Given the description of an element on the screen output the (x, y) to click on. 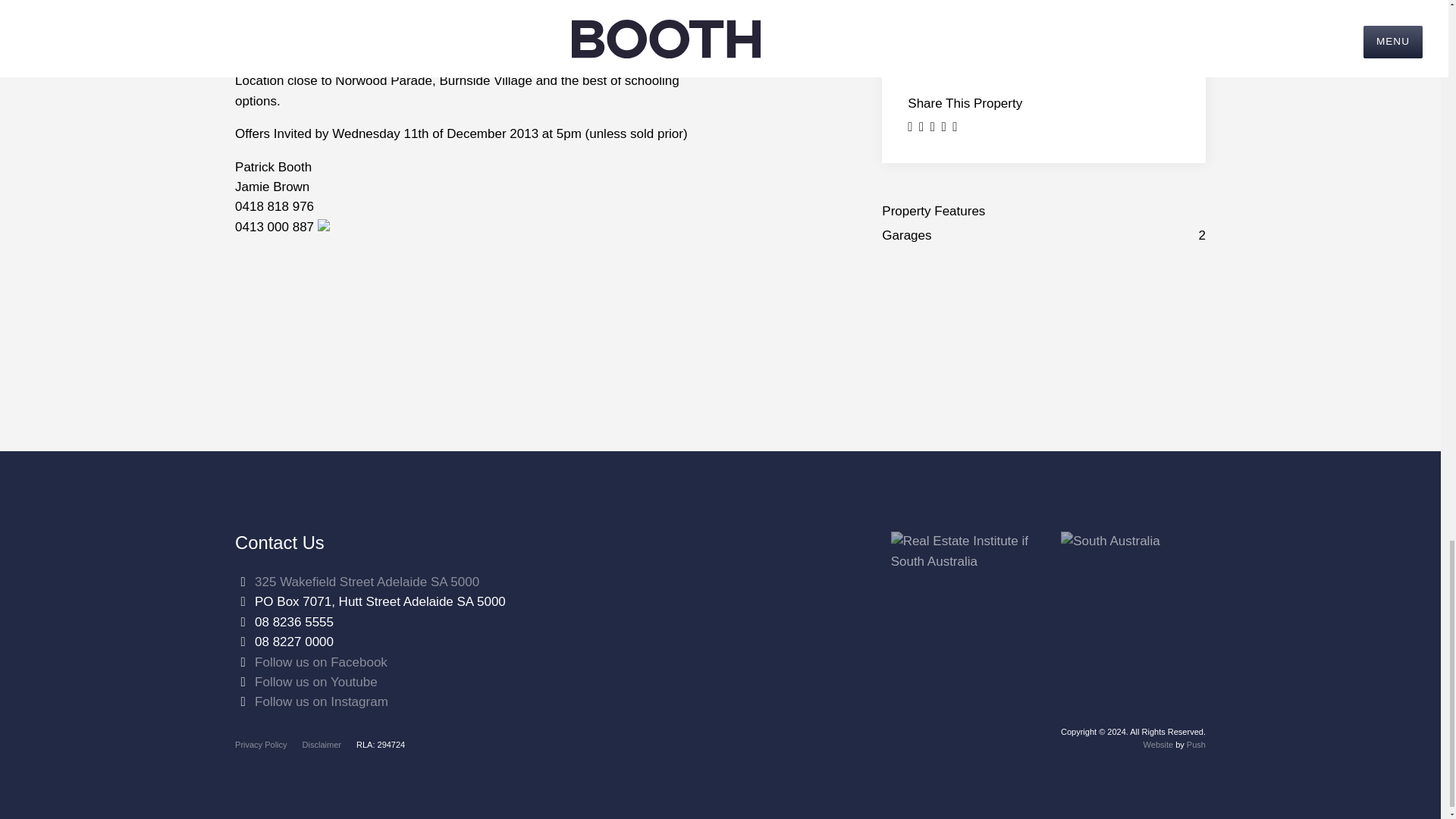
Follow us on Facebook (320, 662)
Follow us on Instagram (321, 701)
Privacy Policy (260, 744)
Follow us on Youtube (315, 681)
Disclaimer (321, 744)
325 Wakefield Street Adelaide SA 5000 (366, 581)
ENQUIRE ABOUT THIS PROPERTY (1043, 1)
